Given the description of an element on the screen output the (x, y) to click on. 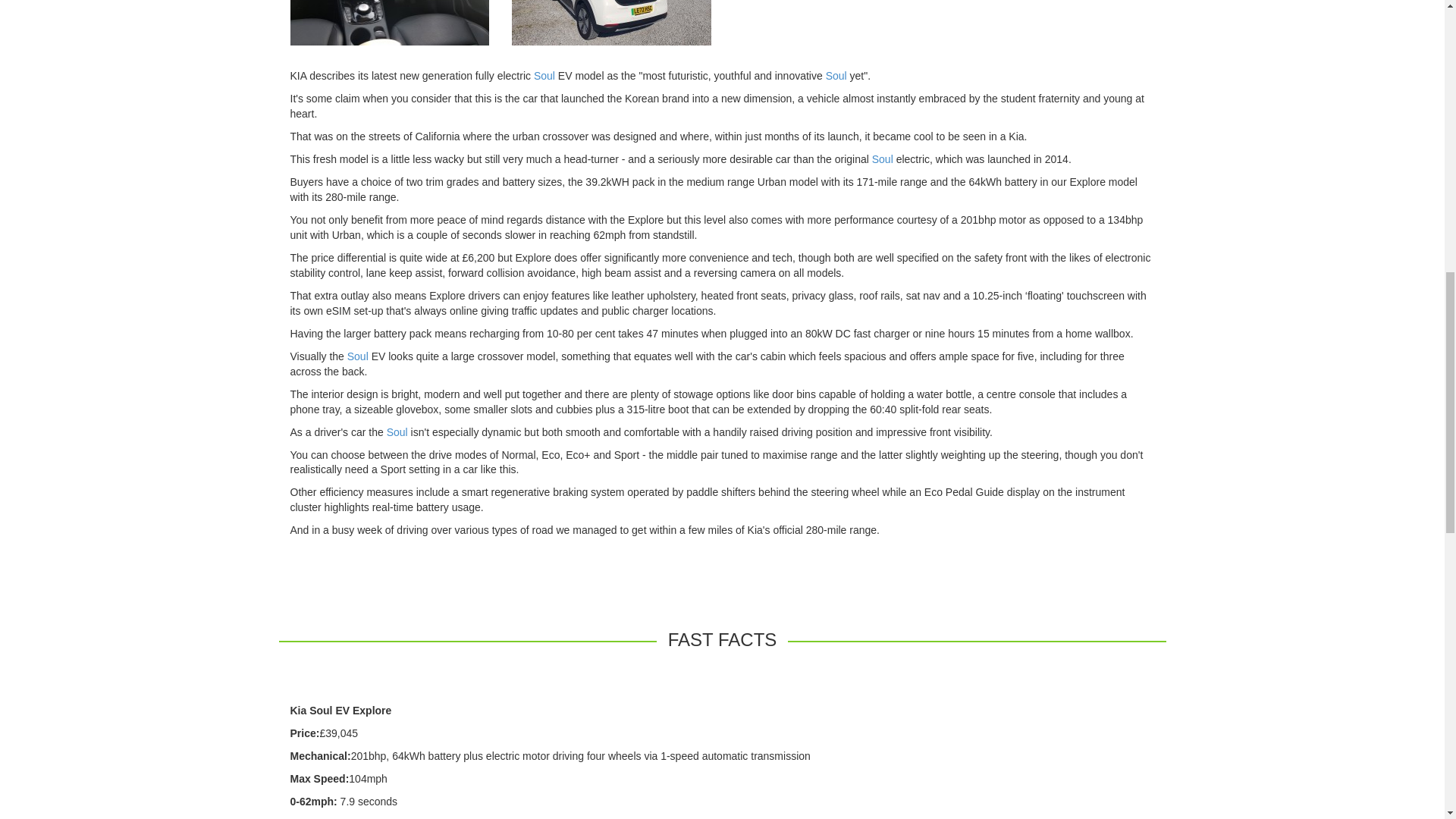
Soul (357, 356)
Soul (544, 75)
Soul (836, 75)
Soul (397, 431)
Soul (882, 159)
